Given the description of an element on the screen output the (x, y) to click on. 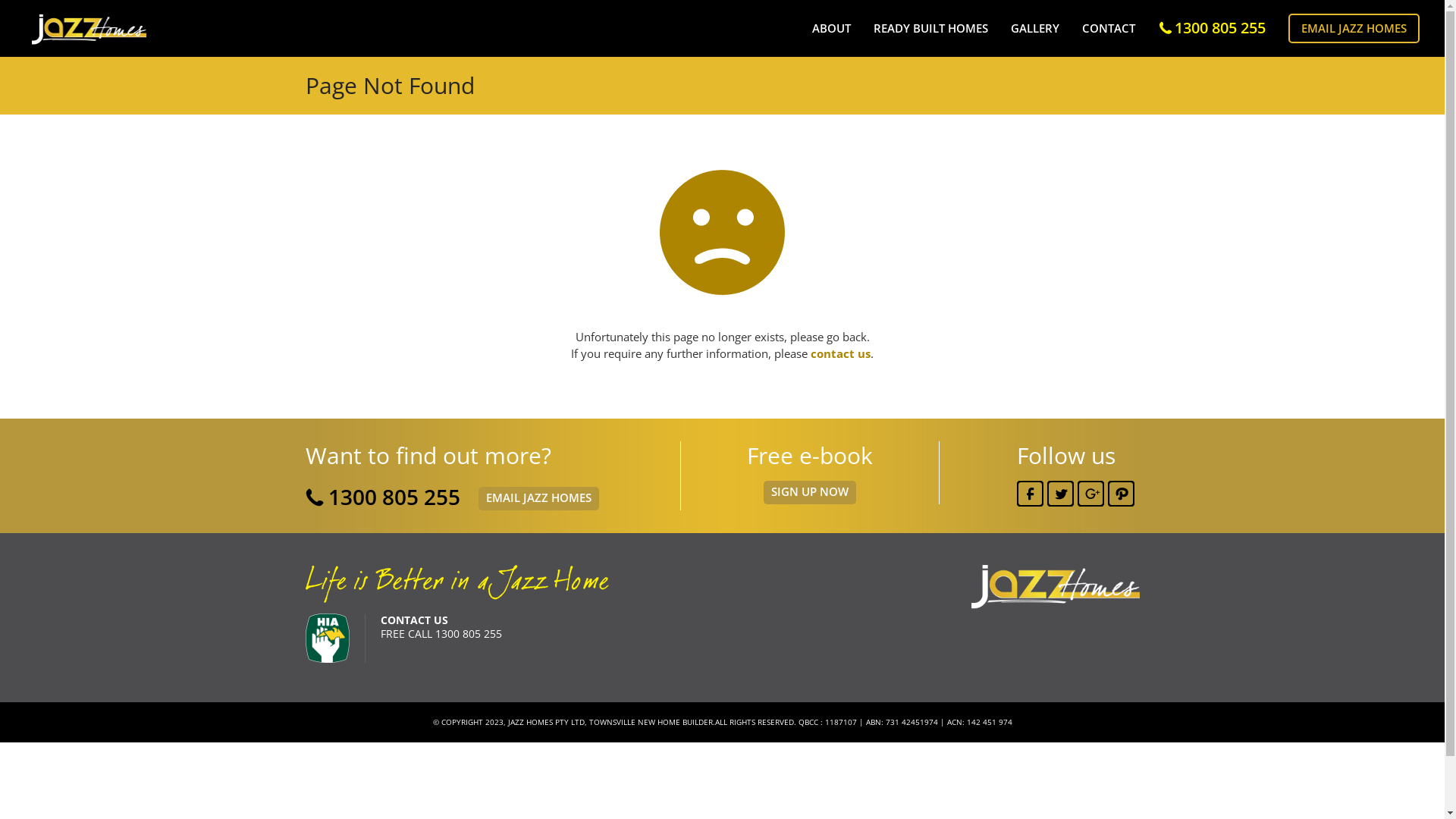
READY BUILT HOMES Element type: text (930, 28)
EMAIL JAZZ HOMES Element type: text (537, 498)
CONTACT Element type: text (1108, 28)
EMAIL JAZZ HOMES Element type: text (1353, 28)
1300 805 255 Element type: text (1212, 27)
GALLERY Element type: text (1034, 28)
SIGN UP NOW Element type: text (808, 492)
ABOUT Element type: text (831, 28)
contact us Element type: text (840, 352)
1300 805 255 Element type: text (393, 496)
